Given the description of an element on the screen output the (x, y) to click on. 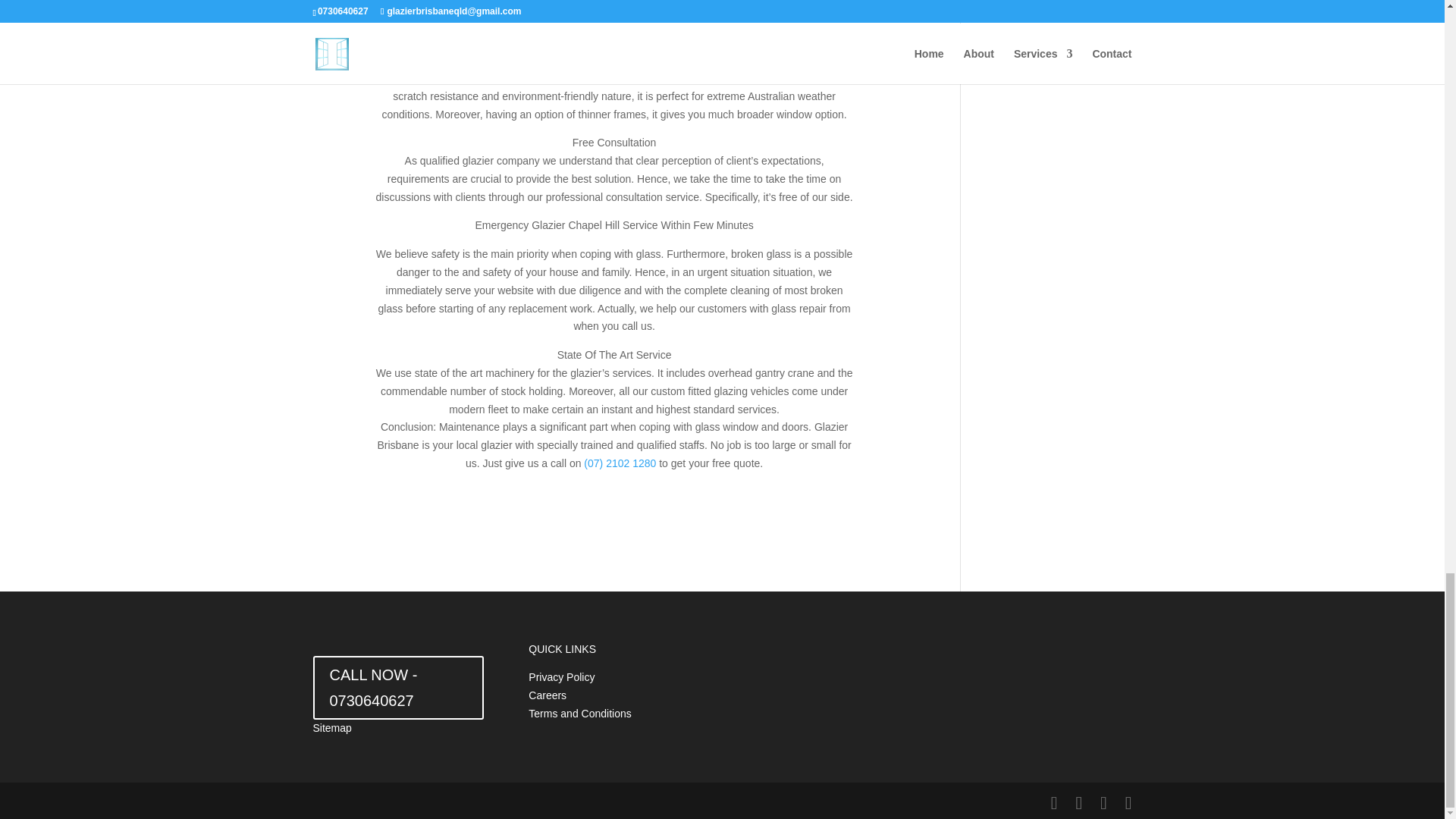
Careers (547, 695)
CALL NOW - 0730640627 (398, 687)
Sitemap (331, 727)
Call via Hangouts (619, 463)
Privacy Policy (561, 676)
Terms and Conditions (579, 713)
